Given the description of an element on the screen output the (x, y) to click on. 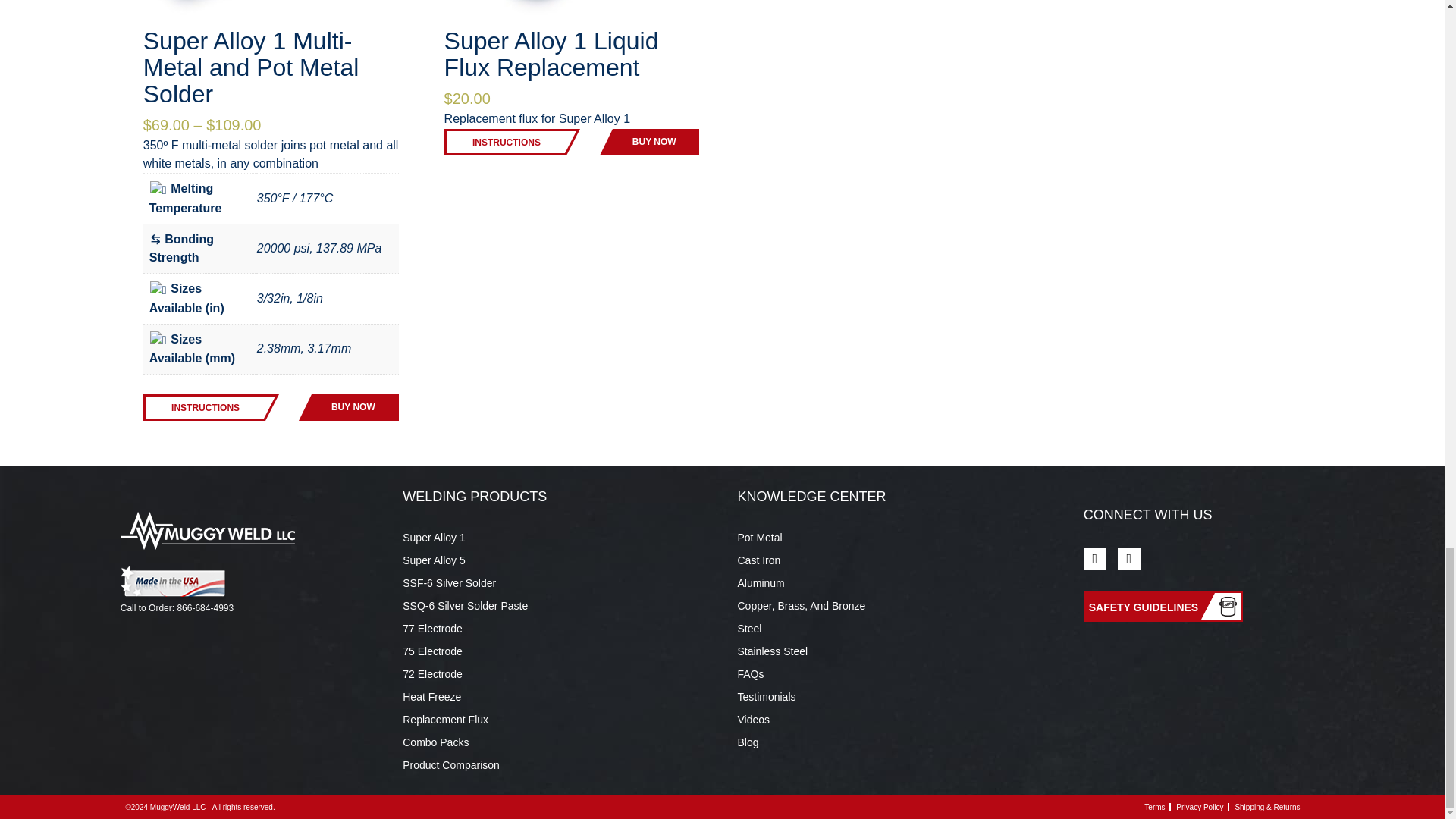
WELDING PRODUCTS (475, 496)
Super Alloy 5 (434, 560)
Super Alloy 1 (434, 537)
